Given the description of an element on the screen output the (x, y) to click on. 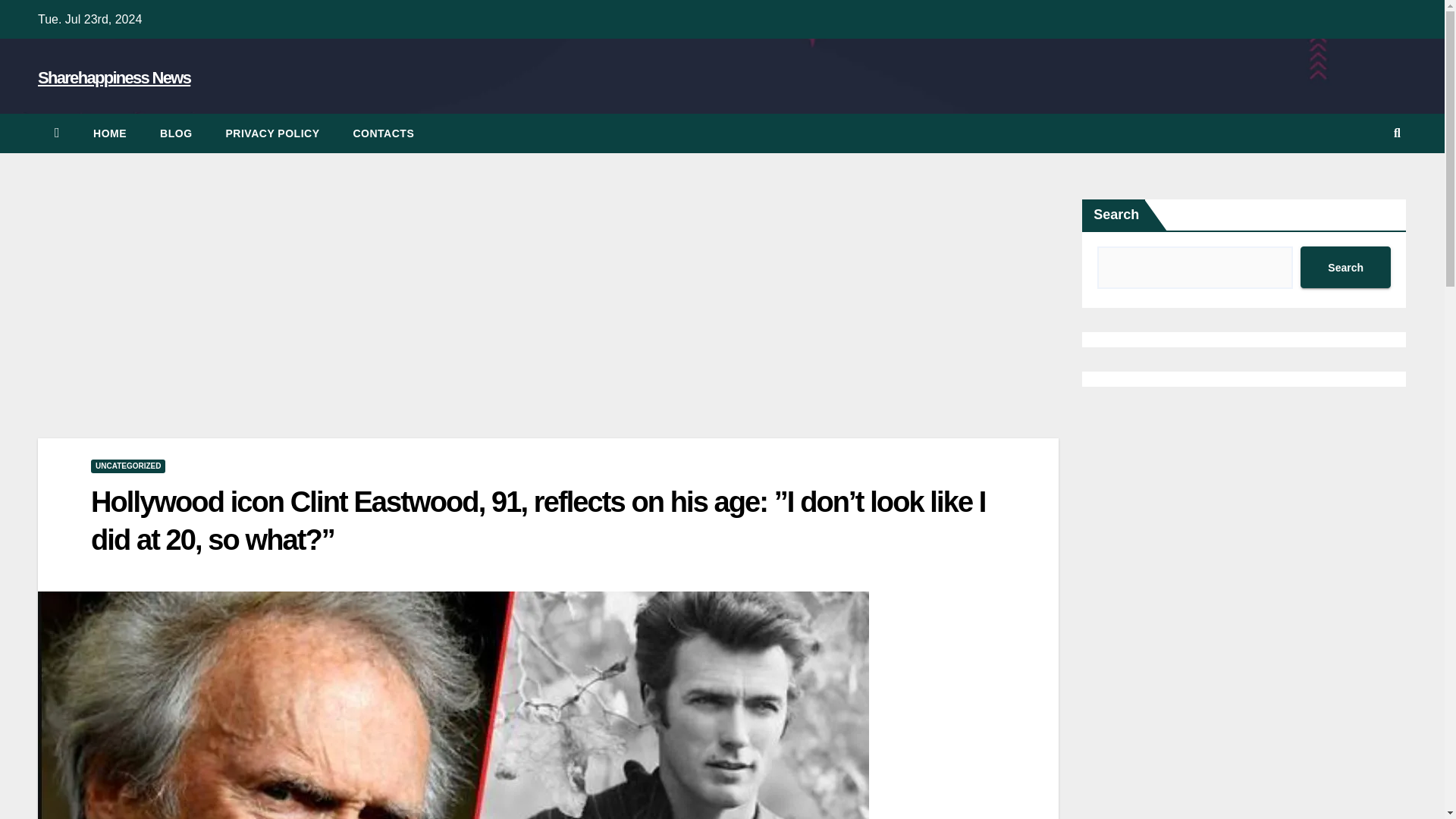
Home (109, 133)
BLOG (175, 133)
Contacts (383, 133)
Privacy Policy (272, 133)
Blog (175, 133)
Search (1345, 267)
CONTACTS (383, 133)
HOME (109, 133)
Sharehappiness News (113, 76)
UNCATEGORIZED (127, 466)
PRIVACY POLICY (272, 133)
